Given the description of an element on the screen output the (x, y) to click on. 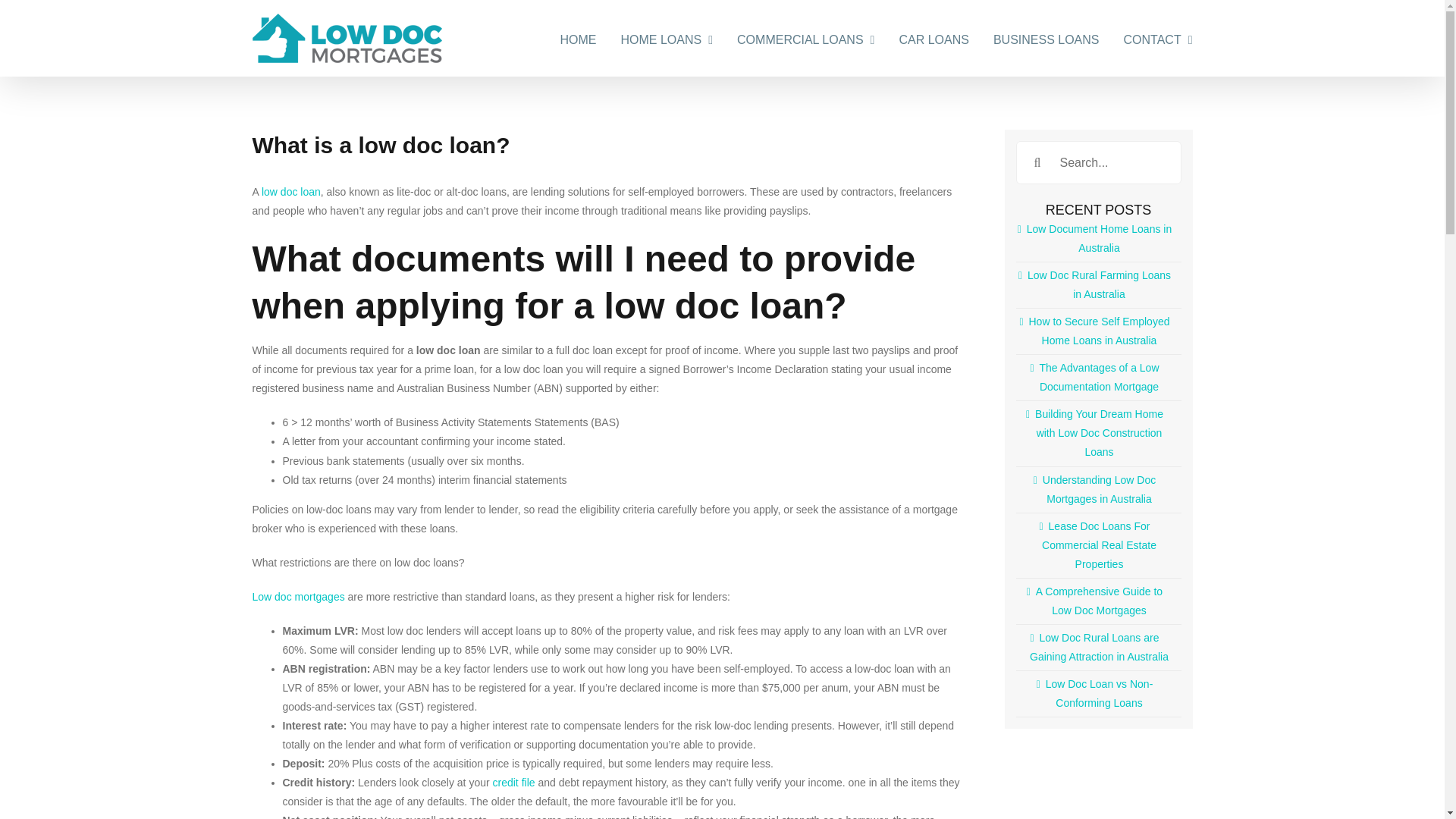
HOME LOANS (667, 38)
CONTACT (1158, 38)
COMMERCIAL LOANS (805, 38)
CAR LOANS (933, 38)
BUSINESS LOANS (1045, 38)
